Given the description of an element on the screen output the (x, y) to click on. 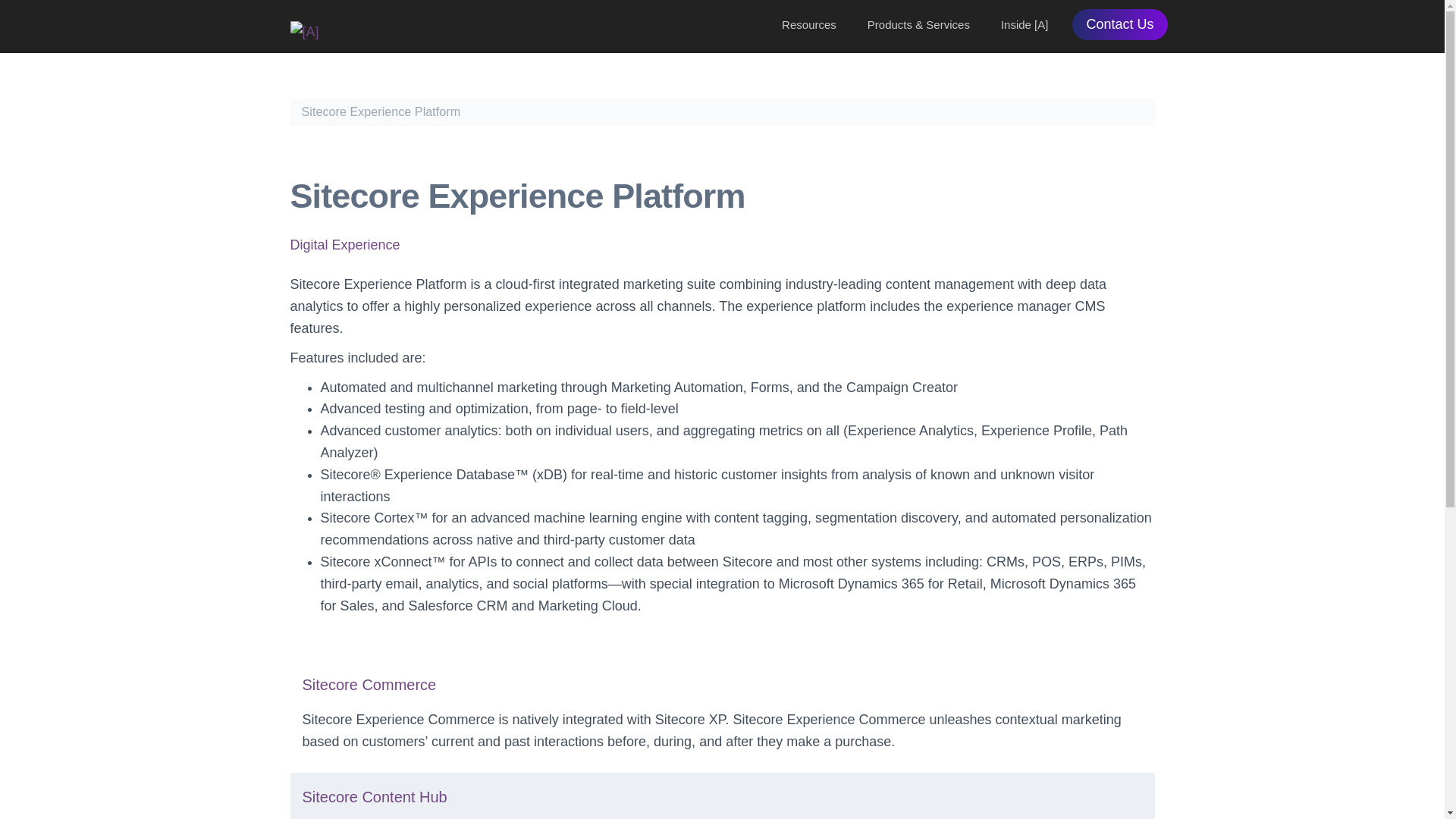
Contact Us (1119, 24)
Resources (808, 24)
Digital Experience (343, 244)
